Given the description of an element on the screen output the (x, y) to click on. 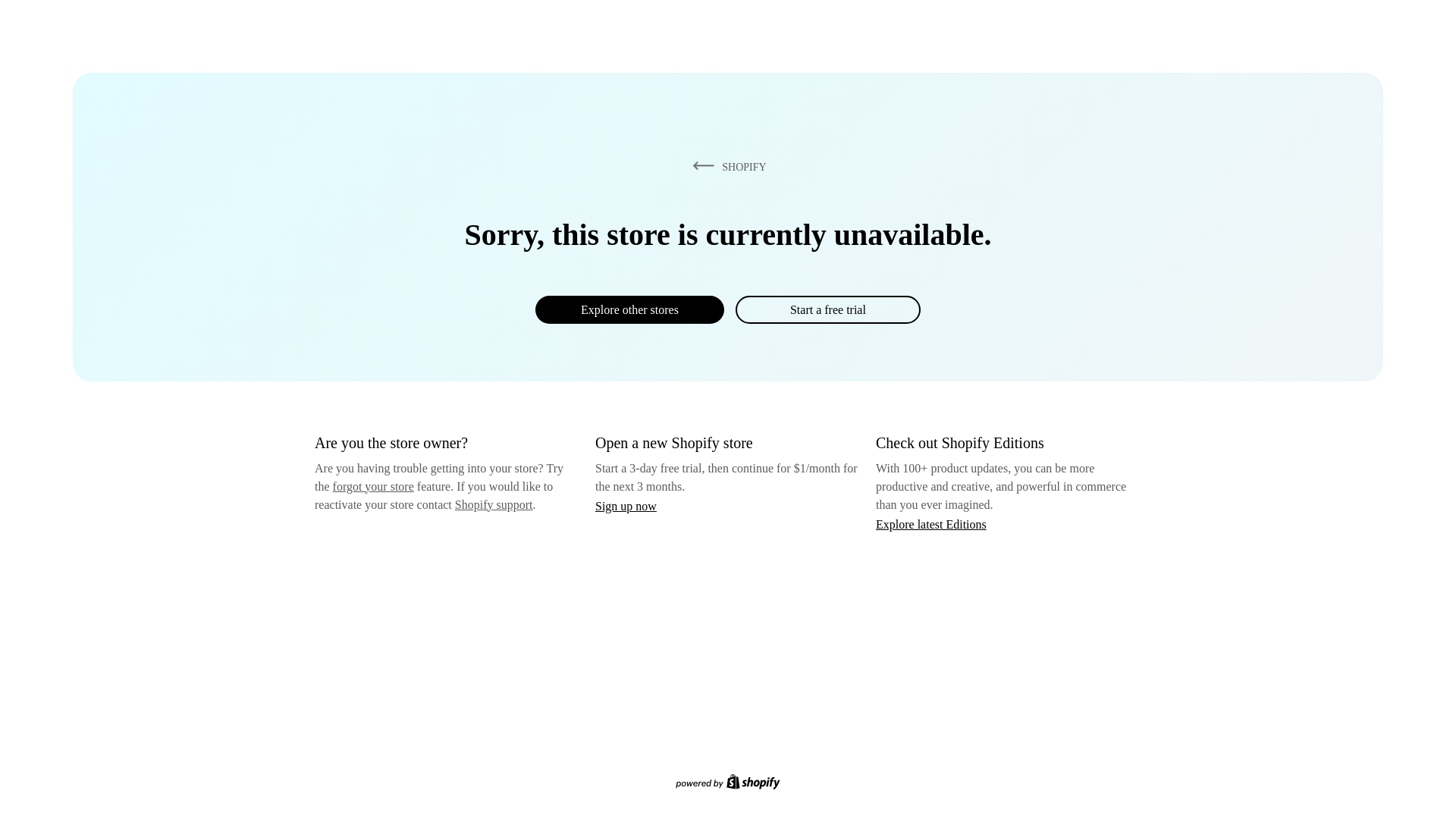
Explore other stores (629, 309)
Shopify support (493, 504)
Explore latest Editions (931, 523)
SHOPIFY (726, 166)
Start a free trial (827, 309)
Sign up now (625, 505)
forgot your store (373, 486)
